Given the description of an element on the screen output the (x, y) to click on. 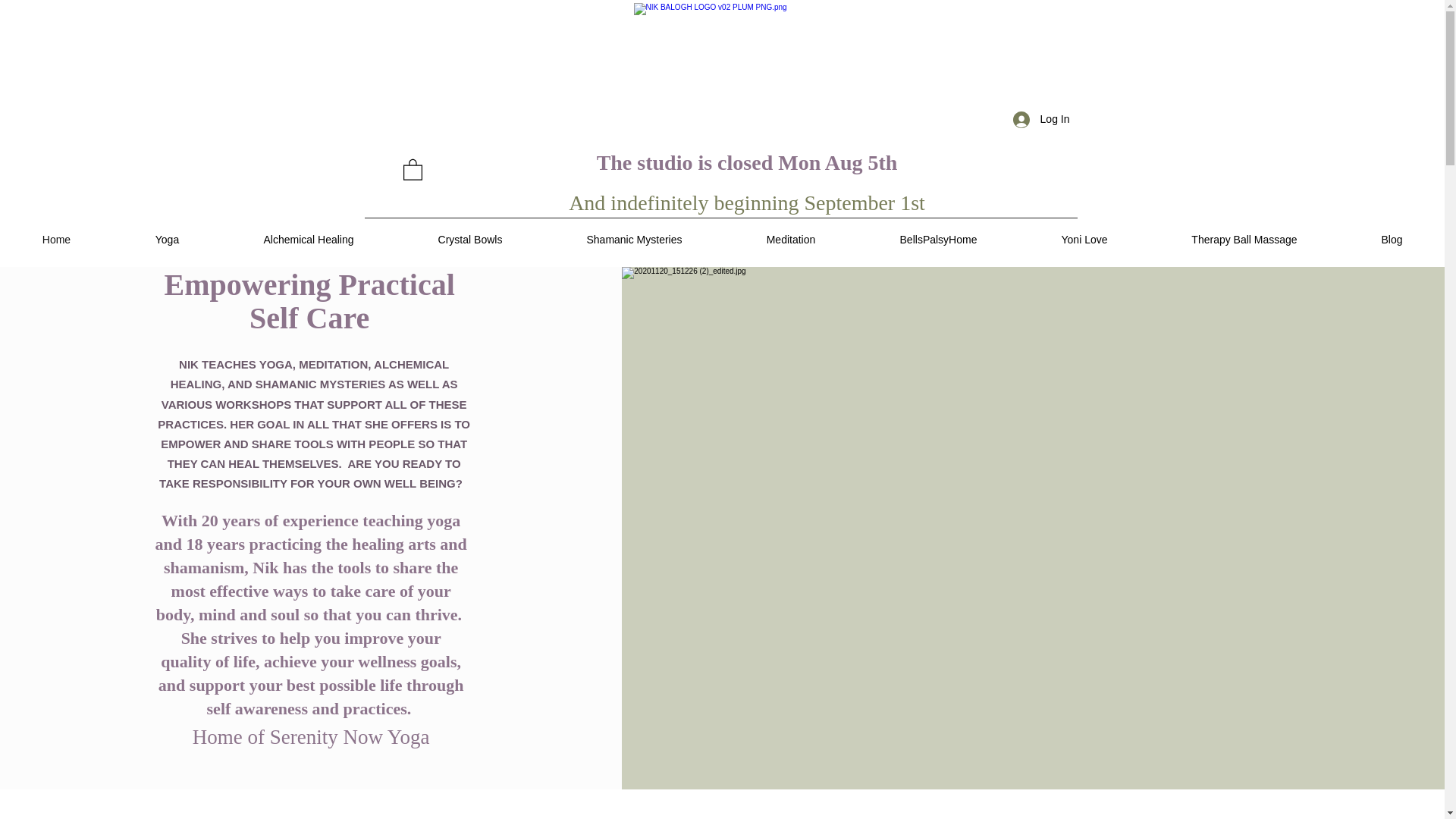
Crystal Bowls (470, 239)
Home (56, 239)
Yoga (167, 239)
Yoni Love (1084, 239)
Log In (1041, 119)
Shamanic Mysteries (633, 239)
Alchemical Healing (308, 239)
Meditation (790, 239)
BellsPalsyHome (938, 239)
Therapy Ball Massage (1244, 239)
